Given the description of an element on the screen output the (x, y) to click on. 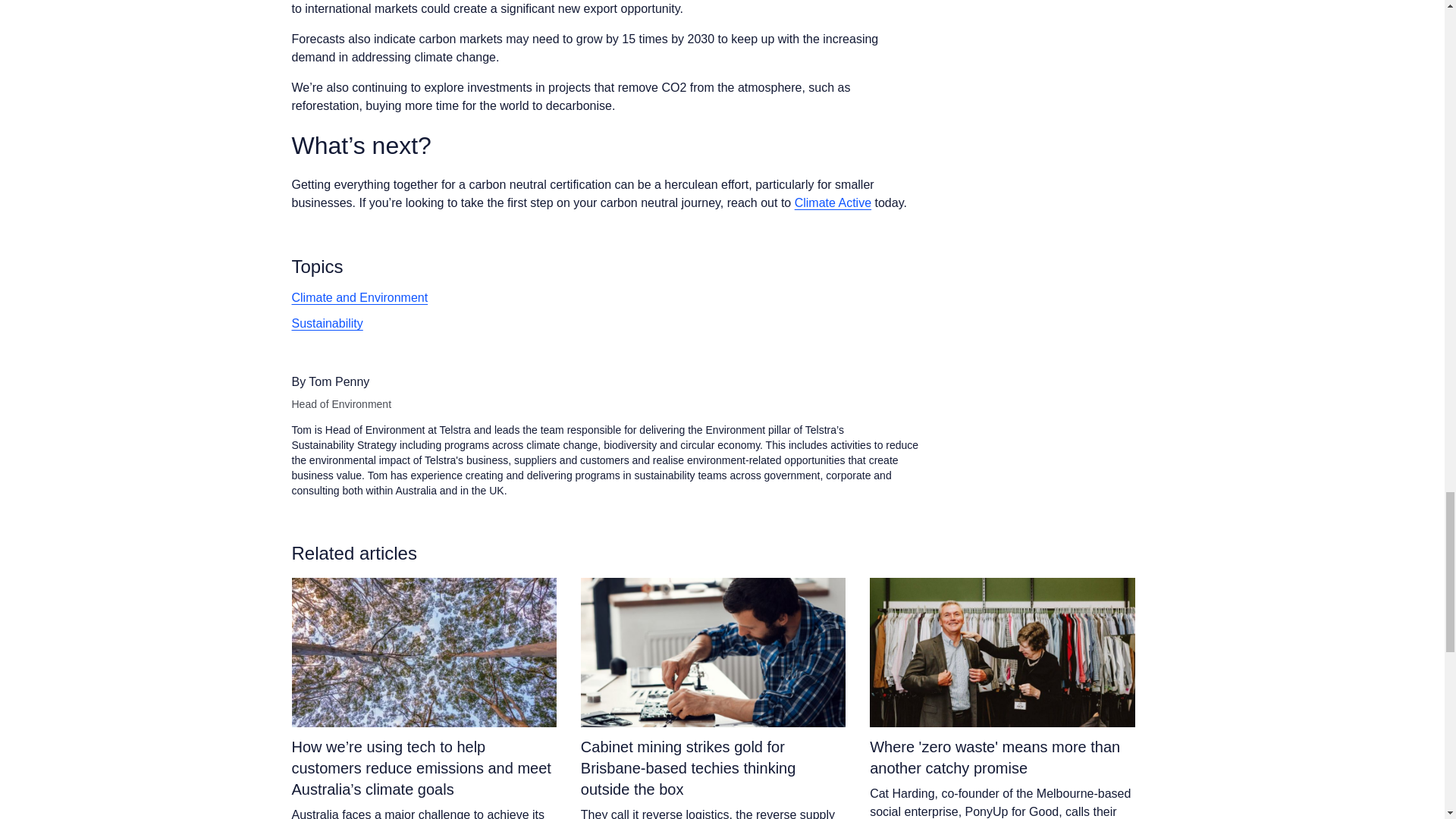
Climate and Environment (359, 297)
Sustainability (326, 323)
Climate Active (832, 202)
Where 'zero waste' means more than another catchy promise (1001, 757)
